Given the description of an element on the screen output the (x, y) to click on. 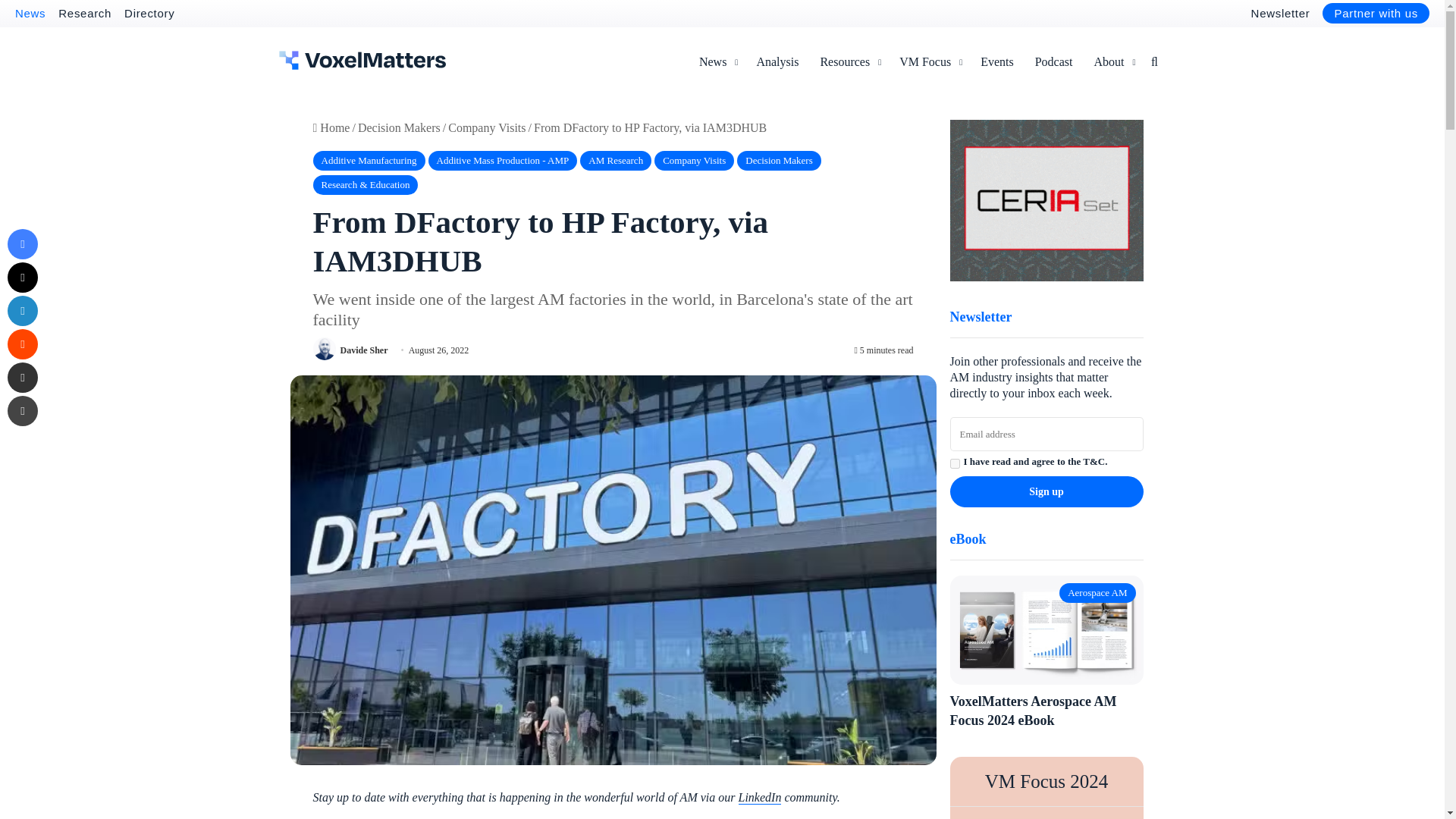
News (29, 12)
Partner with us (1375, 13)
Analysis (777, 62)
Reddit (22, 344)
1 (954, 463)
Directory (148, 12)
Resources (848, 62)
Research (85, 12)
VoxelMatters - The heart of additive manufacturing (362, 60)
Print (22, 410)
Davide Sher (363, 348)
Newsletter (1280, 12)
Sign up (1045, 490)
X (22, 277)
Share via Email (22, 377)
